Given the description of an element on the screen output the (x, y) to click on. 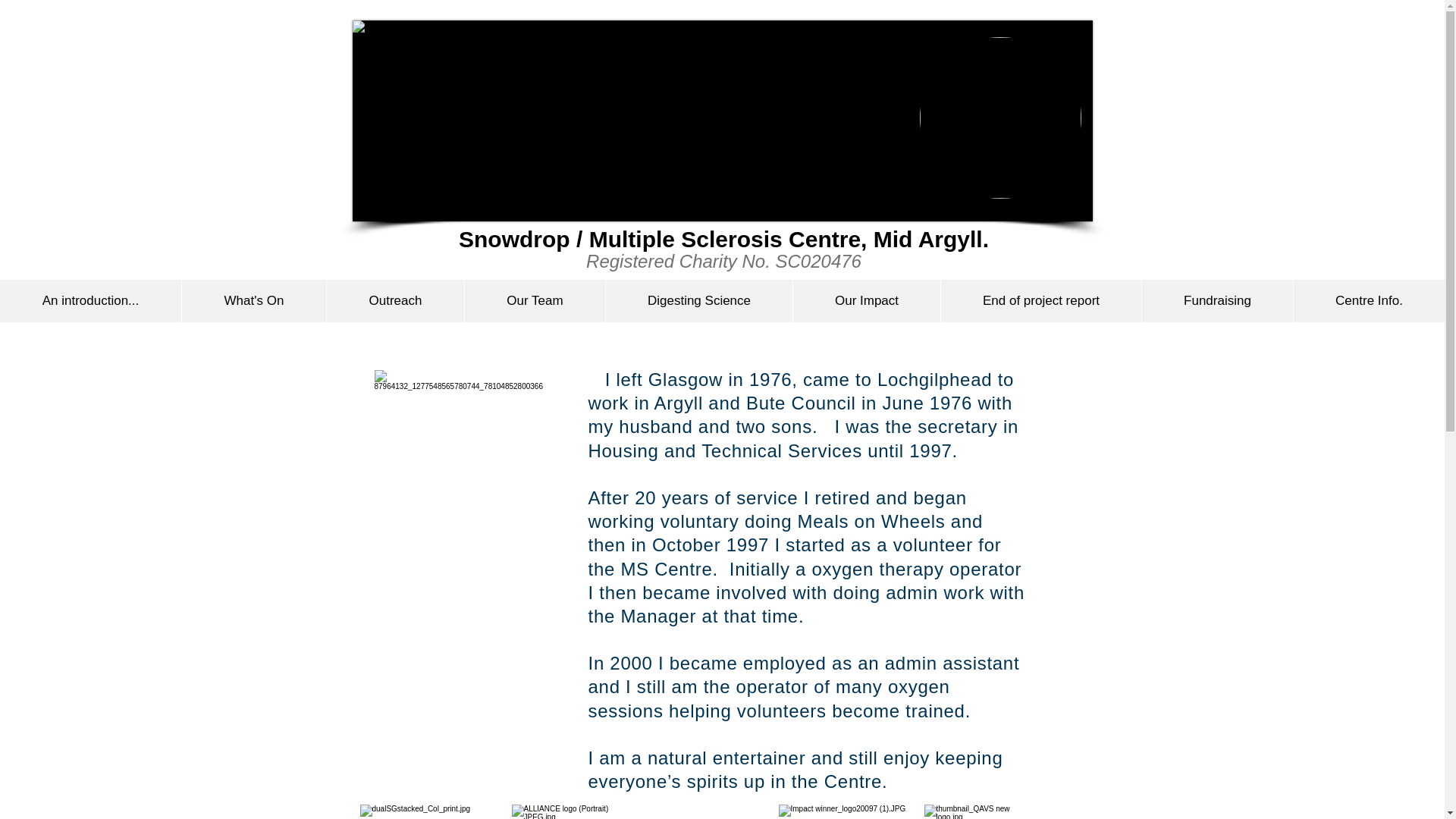
End of project report (1040, 301)
SnowdropLogo.jpg (999, 117)
Fundraising (1216, 301)
What's On (253, 301)
Outreach (395, 301)
Our Team (534, 301)
An introduction... (90, 301)
Digesting Science (698, 301)
Our Impact (866, 301)
